Given the description of an element on the screen output the (x, y) to click on. 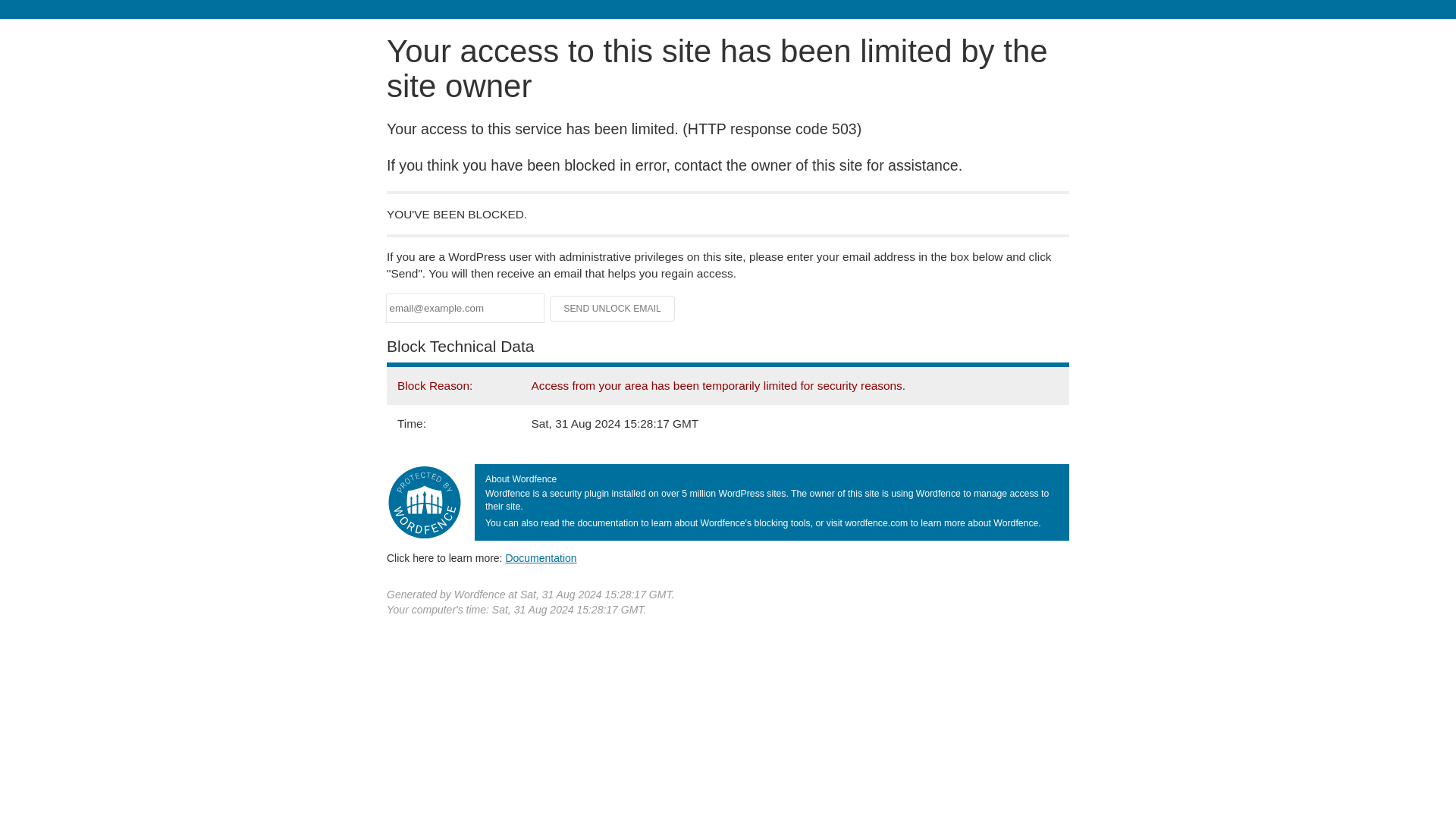
Documentation (540, 558)
Send Unlock Email (612, 308)
Send Unlock Email (612, 308)
